Given the description of an element on the screen output the (x, y) to click on. 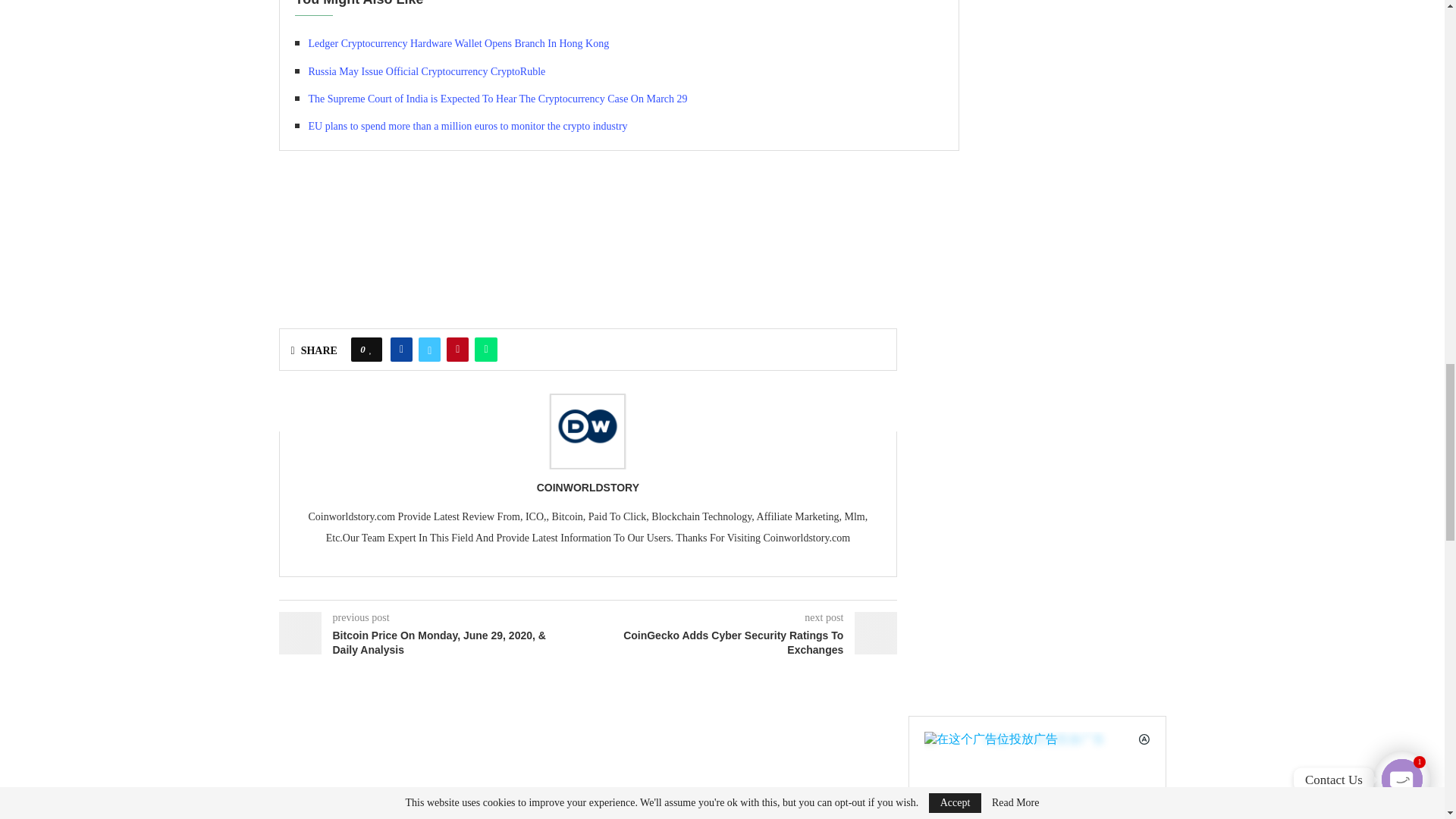
Author Coinworldstory (588, 487)
